Given the description of an element on the screen output the (x, y) to click on. 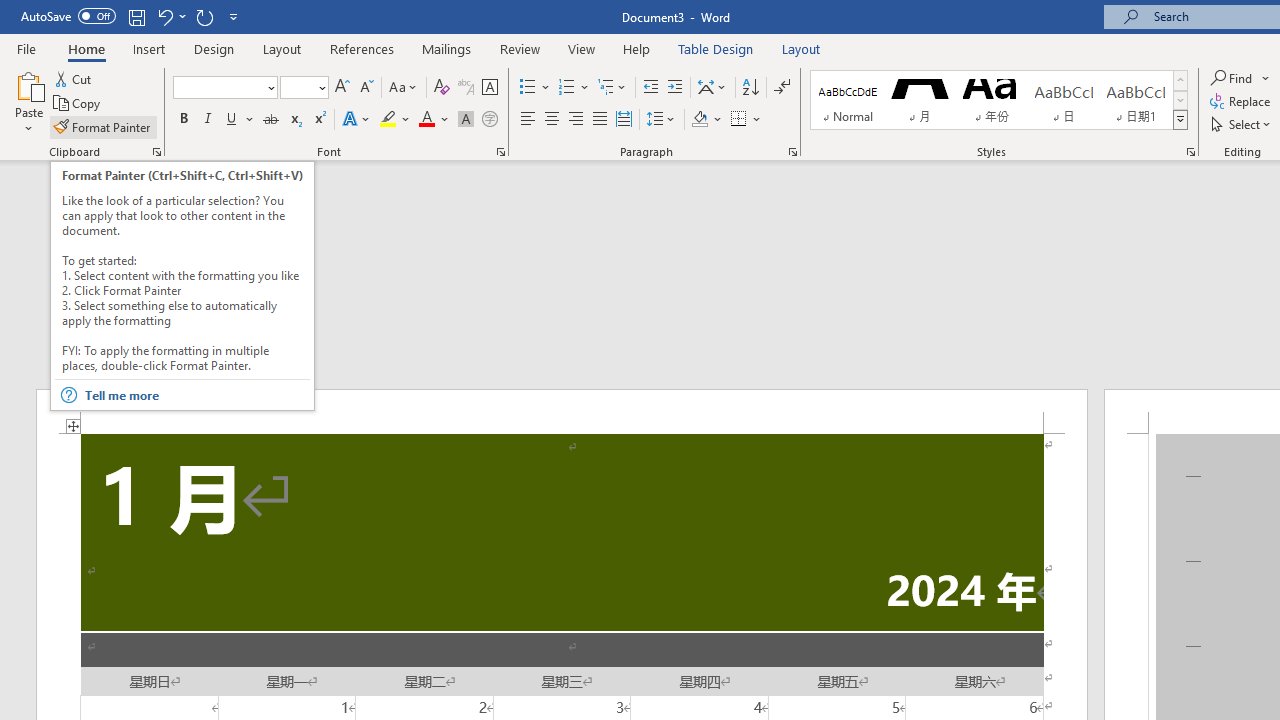
Table Design (715, 48)
Enclose Characters... (489, 119)
Row Down (1179, 100)
Align Left (527, 119)
Justify (599, 119)
Subscript (294, 119)
Office Clipboard... (156, 151)
Styles... (1190, 151)
Header -Section 1- (561, 411)
